Given the description of an element on the screen output the (x, y) to click on. 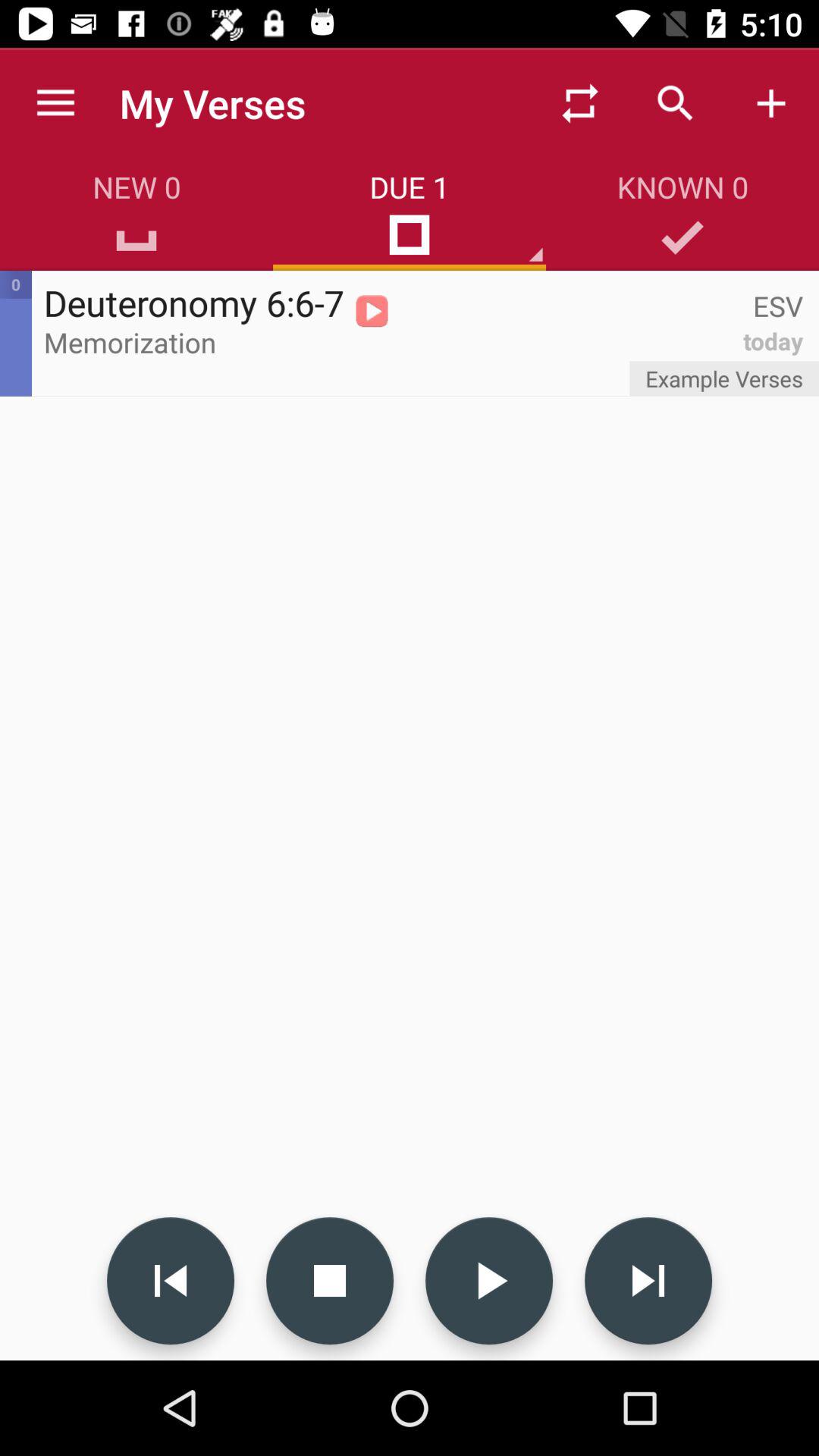
go back (170, 1280)
